Given the description of an element on the screen output the (x, y) to click on. 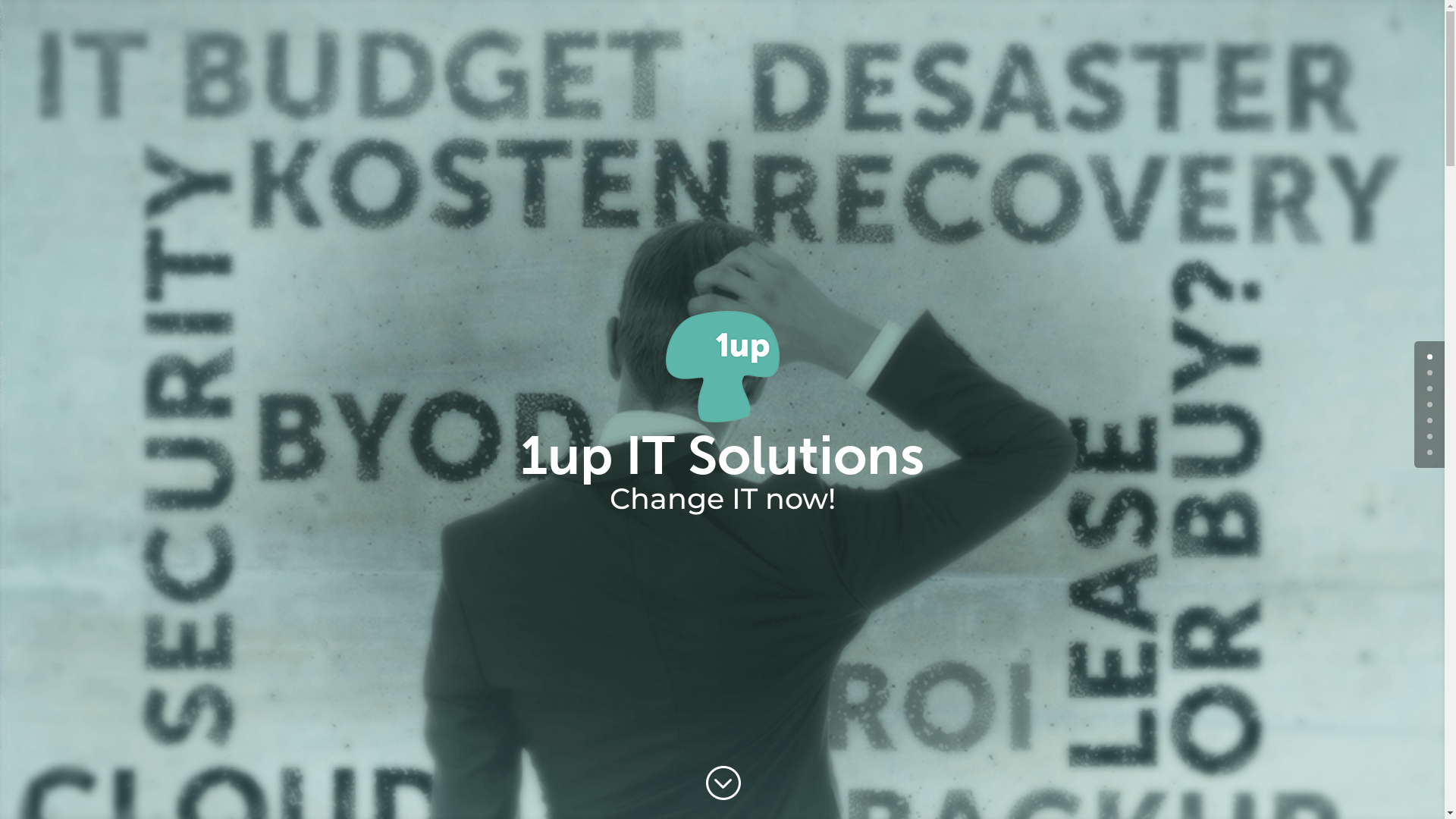
4 Element type: text (1429, 420)
2 Element type: text (1429, 388)
0 Element type: text (1429, 356)
3 Element type: text (1429, 404)
6 Element type: text (1429, 452)
; Element type: text (721, 782)
5 Element type: text (1429, 436)
1 Element type: text (1429, 372)
